Given the description of an element on the screen output the (x, y) to click on. 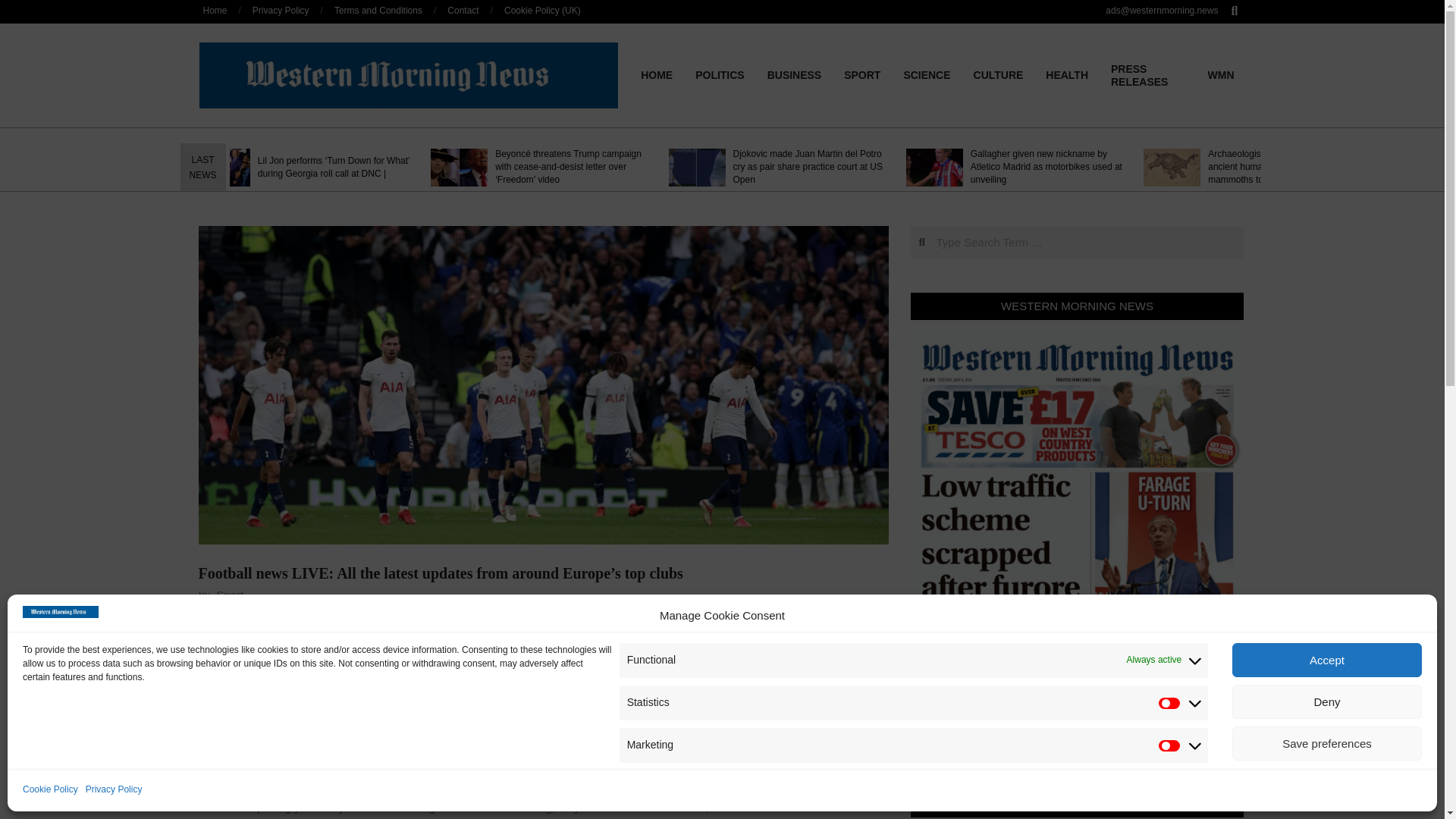
Terms and Conditions (378, 9)
Search (21, 8)
Deny (1326, 701)
HOME (656, 74)
WMN (1221, 74)
POLITICS (719, 74)
Cookie Policy (50, 790)
Save preferences (1326, 743)
PRESS RELEASES (1147, 75)
